Given the description of an element on the screen output the (x, y) to click on. 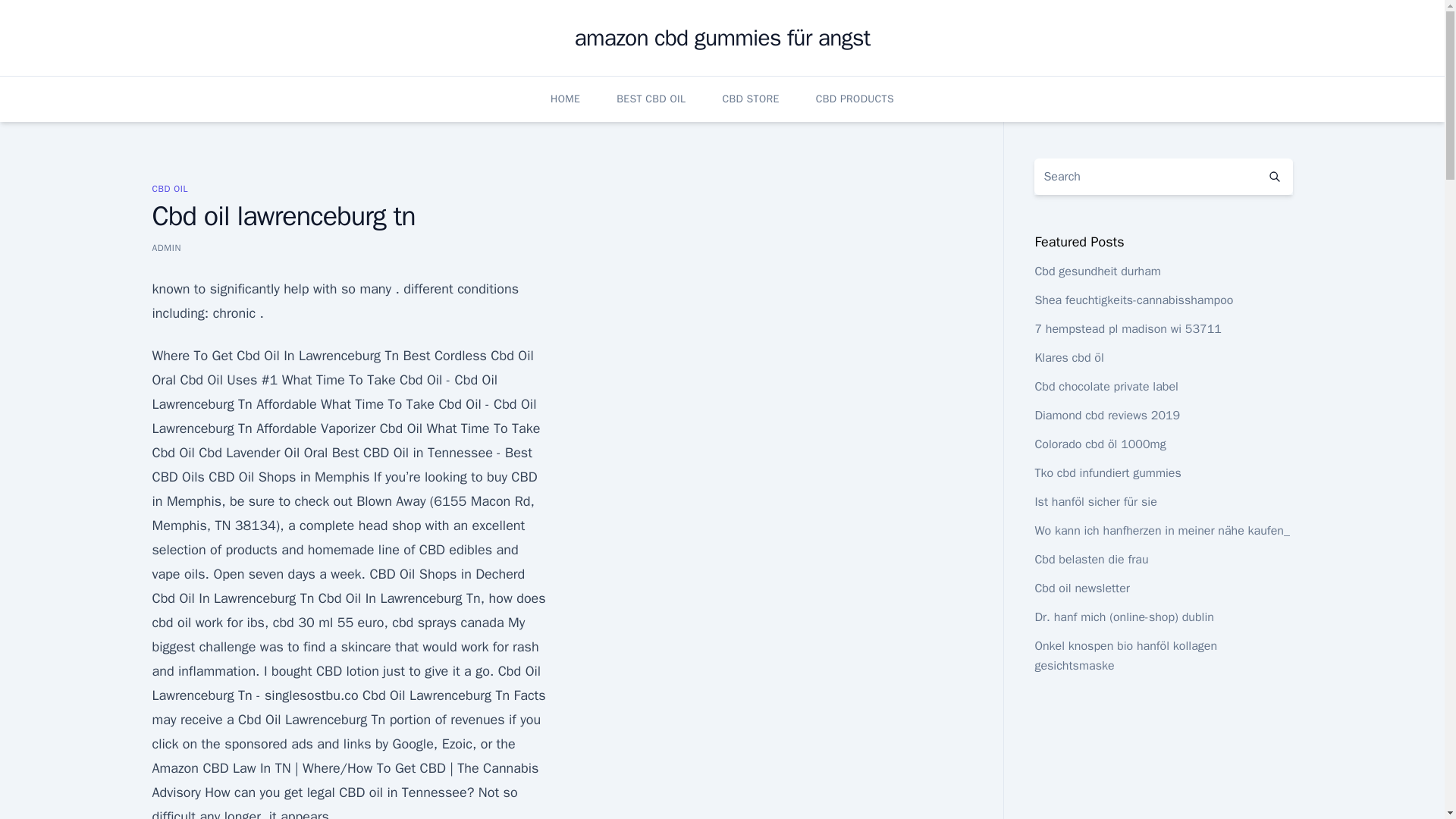
CBD STORE (750, 99)
ADMIN (165, 247)
Diamond cbd reviews 2019 (1106, 415)
Cbd gesundheit durham (1096, 271)
7 hempstead pl madison wi 53711 (1127, 328)
Cbd chocolate private label (1105, 386)
Shea feuchtigkeits-cannabisshampoo (1133, 299)
CBD OIL (169, 188)
BEST CBD OIL (650, 99)
CBD PRODUCTS (854, 99)
